Given the description of an element on the screen output the (x, y) to click on. 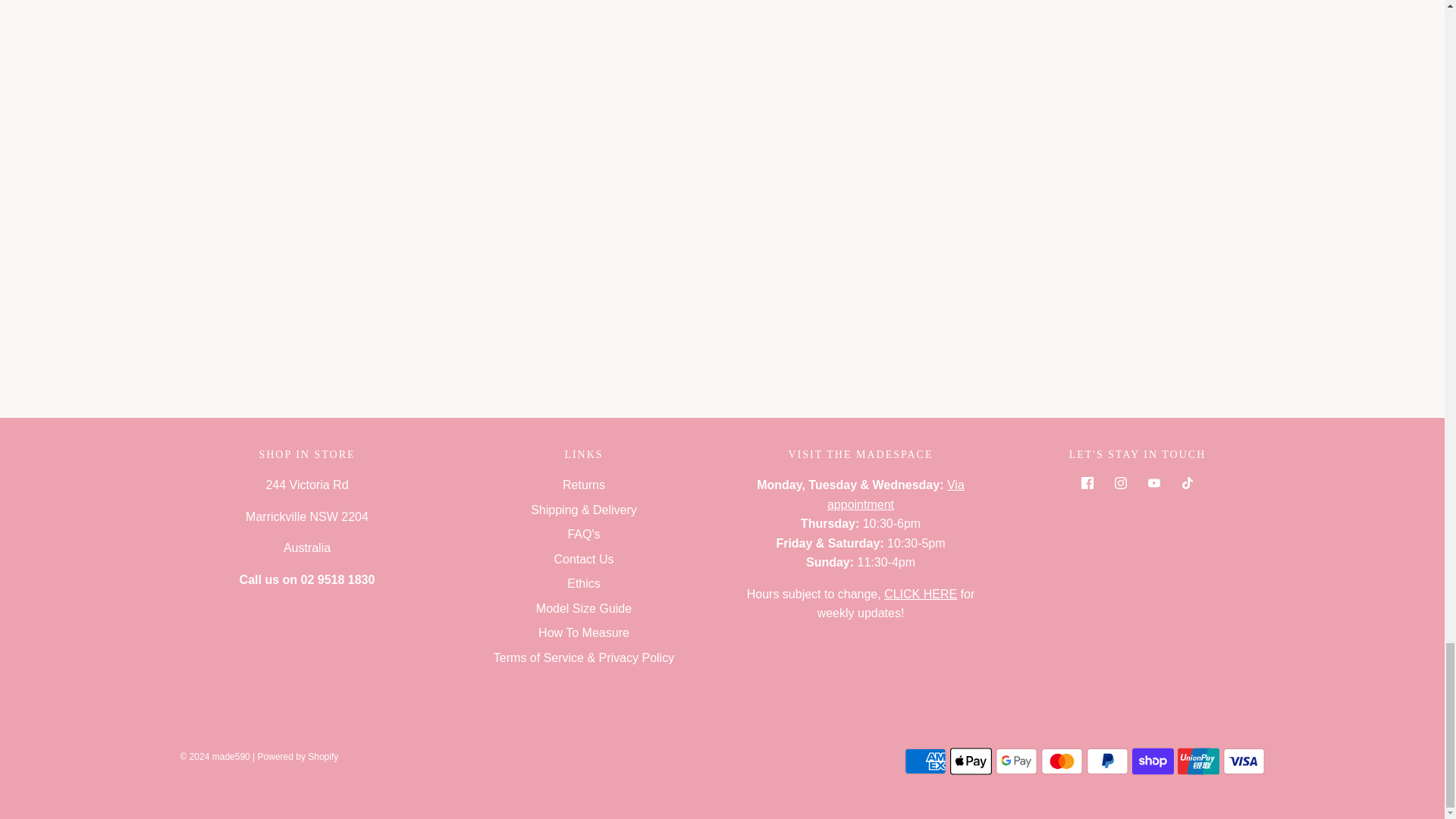
Mastercard (1061, 761)
Shop Pay (1152, 761)
Google Pay (1015, 761)
Shop In-Store (919, 594)
Apple Pay (970, 761)
PayPal (1106, 761)
American Express (924, 761)
